Given the description of an element on the screen output the (x, y) to click on. 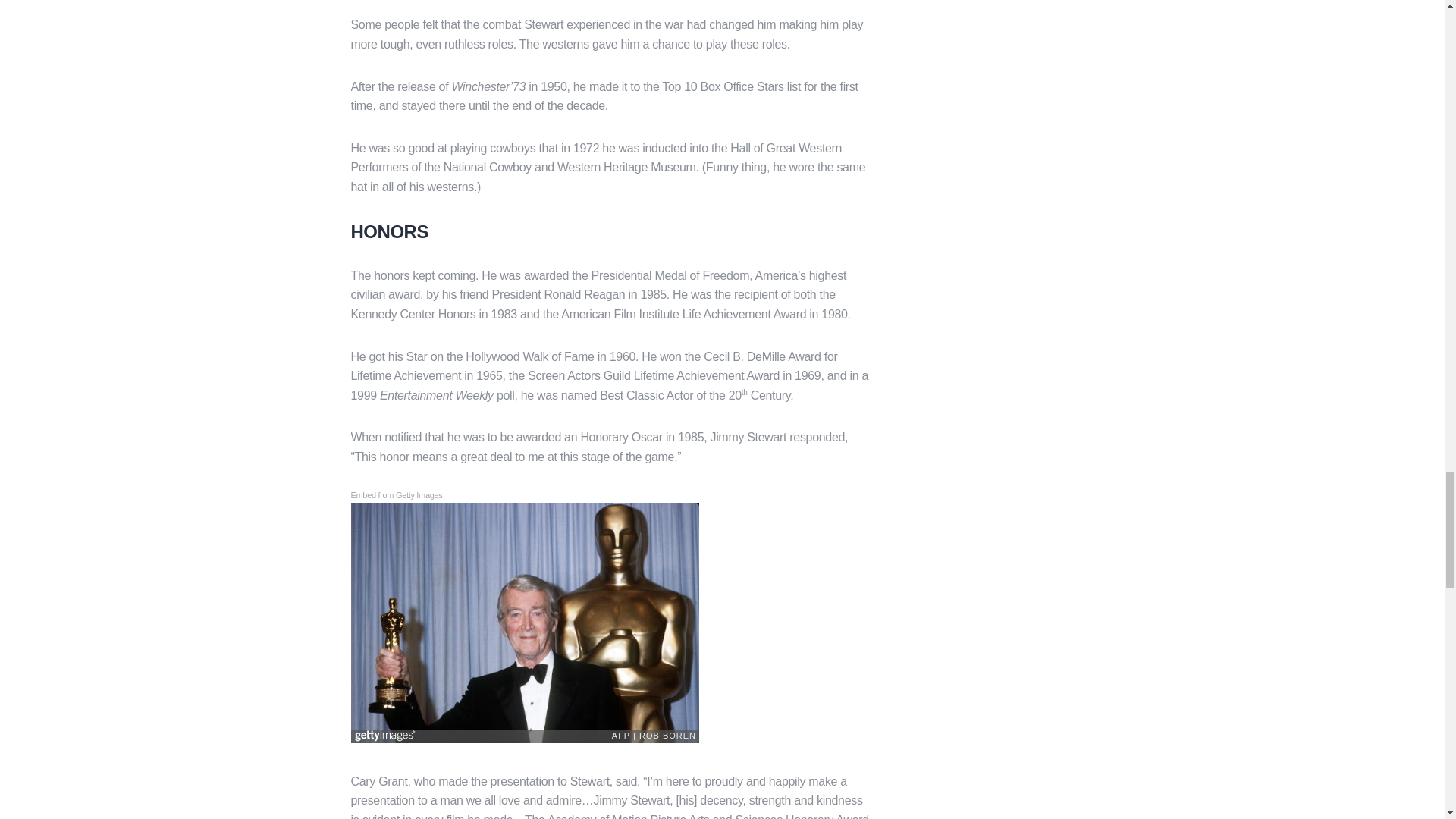
Embed from Getty Images (396, 495)
